Given the description of an element on the screen output the (x, y) to click on. 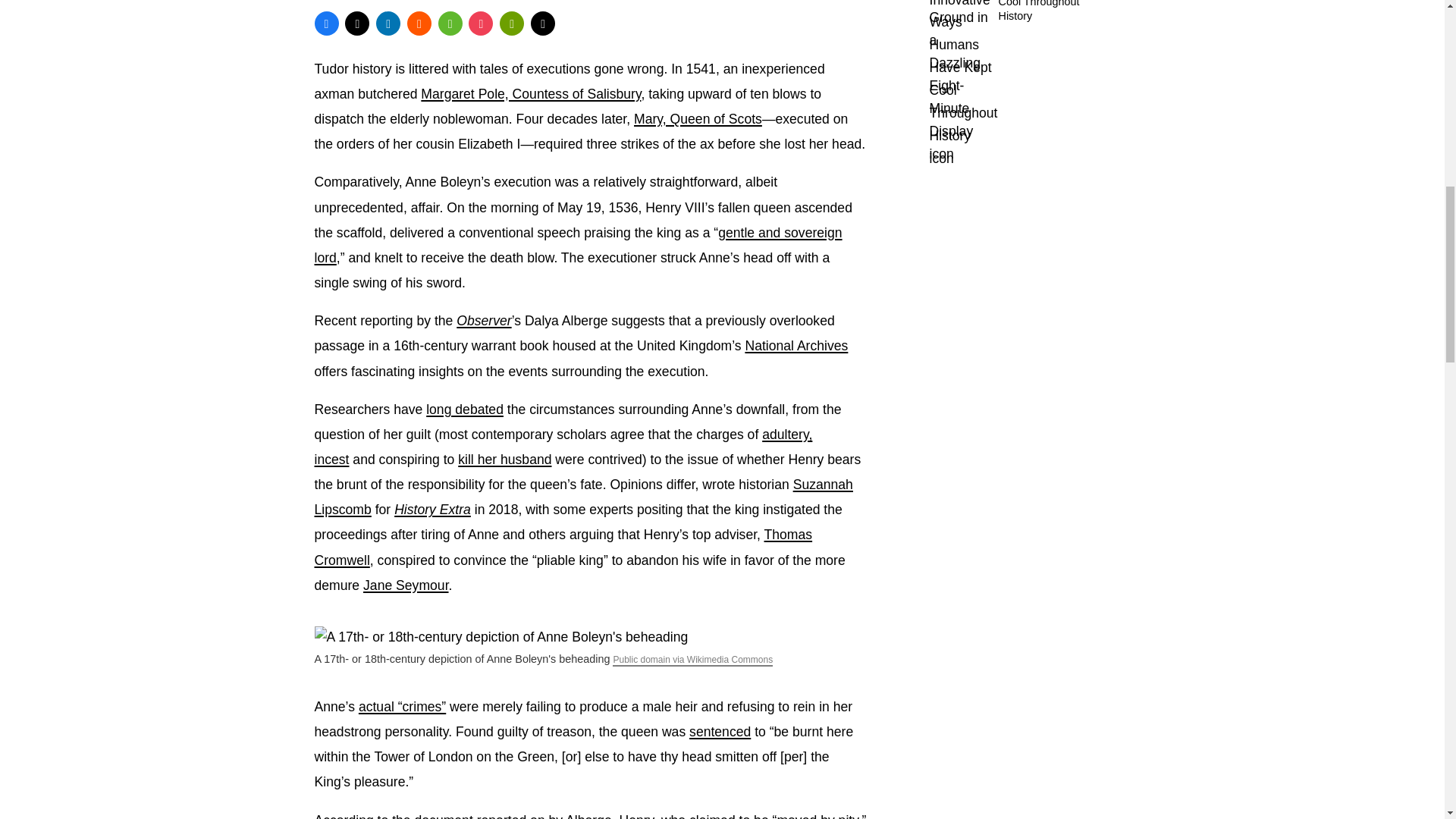
Pocket (480, 23)
LinkedIn (387, 23)
Facebook (325, 23)
WhatsApp (450, 23)
Reddit (418, 23)
Twitter (357, 23)
Print (511, 23)
Email (542, 23)
